Given the description of an element on the screen output the (x, y) to click on. 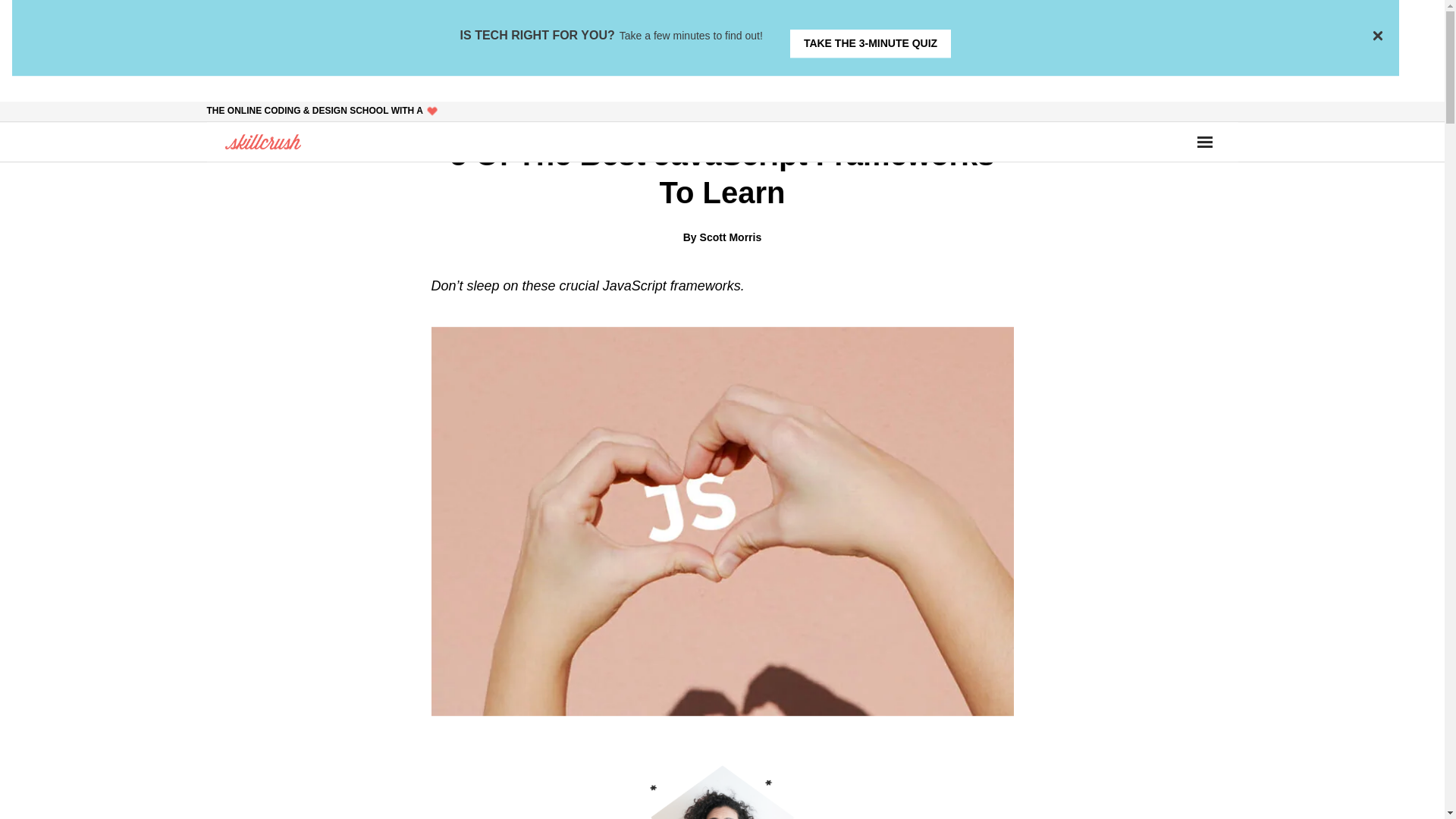
Blog (737, 109)
Home (699, 109)
TAKE THE 3-MINUTE QUIZ (870, 43)
Skillcrush (261, 141)
Scott Morris (730, 236)
Skillcrush (261, 141)
TAKE THE 3-MINUTE QUIZ (870, 43)
